Given the description of an element on the screen output the (x, y) to click on. 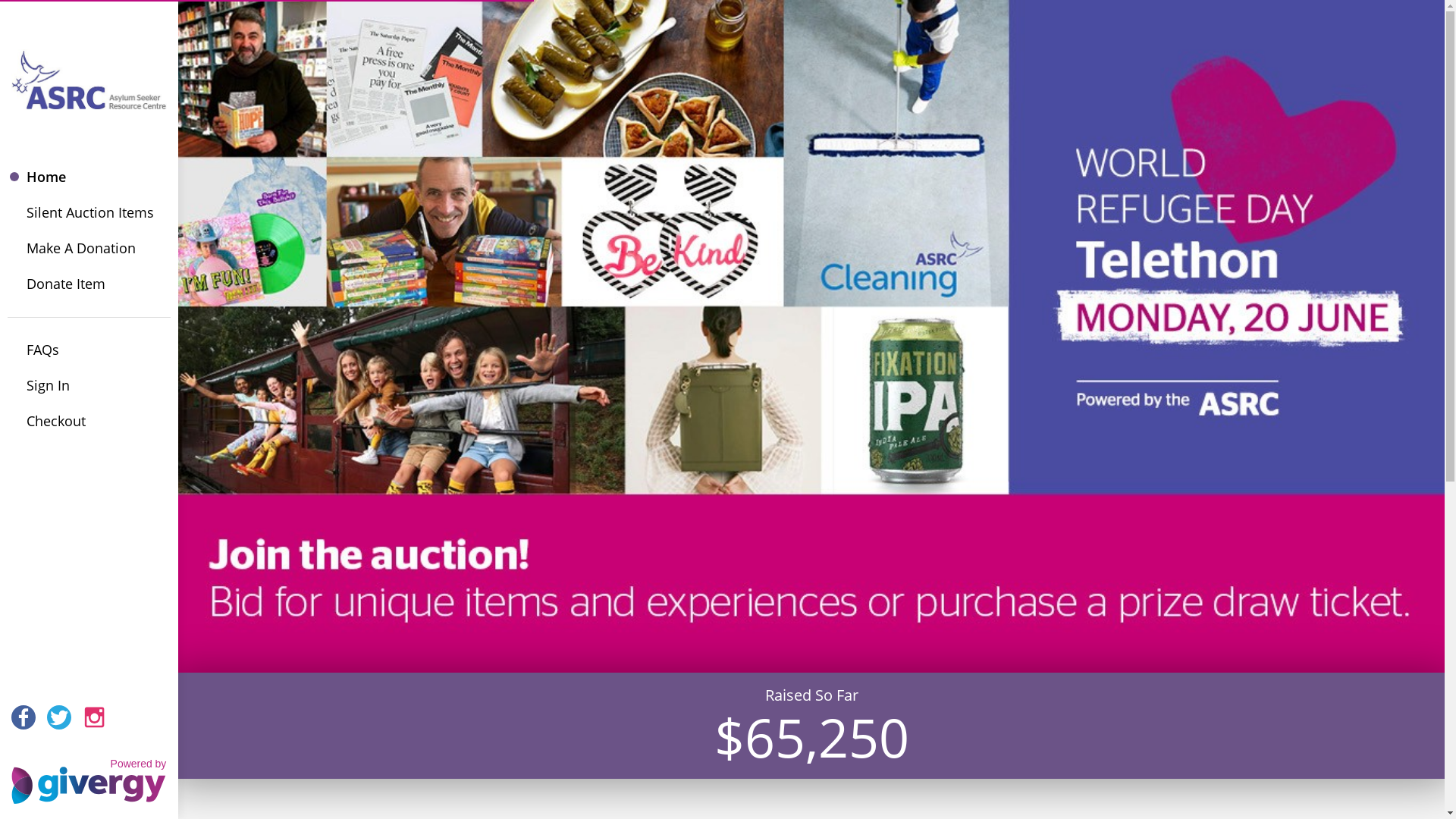
Donate Item Element type: text (89, 283)
Silent Auction Items Element type: text (89, 212)
Our Twitter page (opens new window) Element type: hover (59, 717)
Home Element type: text (89, 176)
FAQs Element type: text (89, 349)
Make A Donation Element type: text (89, 248)
Checkout Element type: text (89, 421)
Our Facebook page (opens new window) Element type: hover (23, 717)
Our Instagram page (opens new window) Element type: hover (94, 717)
Sign In Element type: text (89, 385)
